Given the description of an element on the screen output the (x, y) to click on. 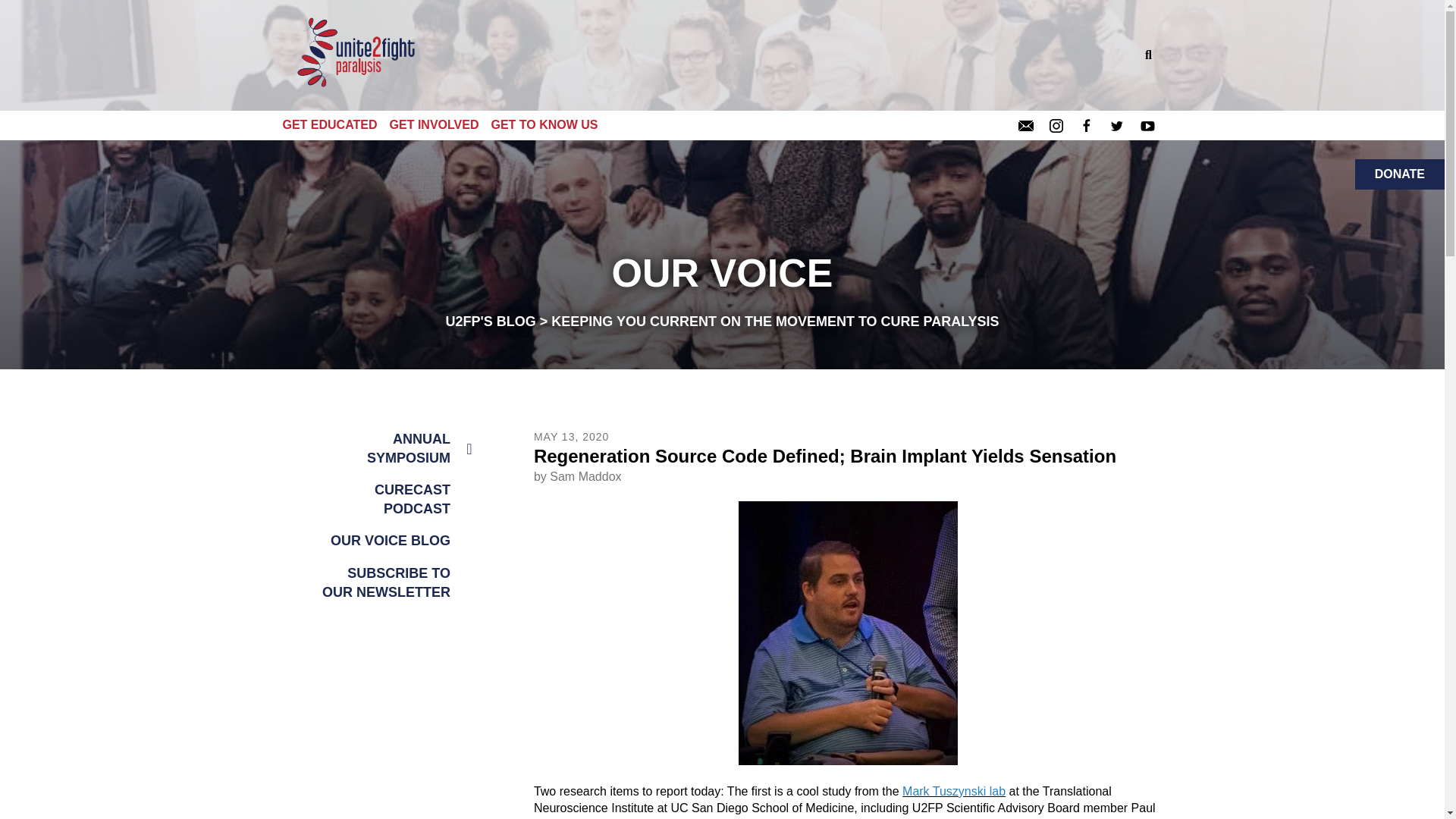
GET EDUCATED (335, 124)
logo (357, 55)
